Given the description of an element on the screen output the (x, y) to click on. 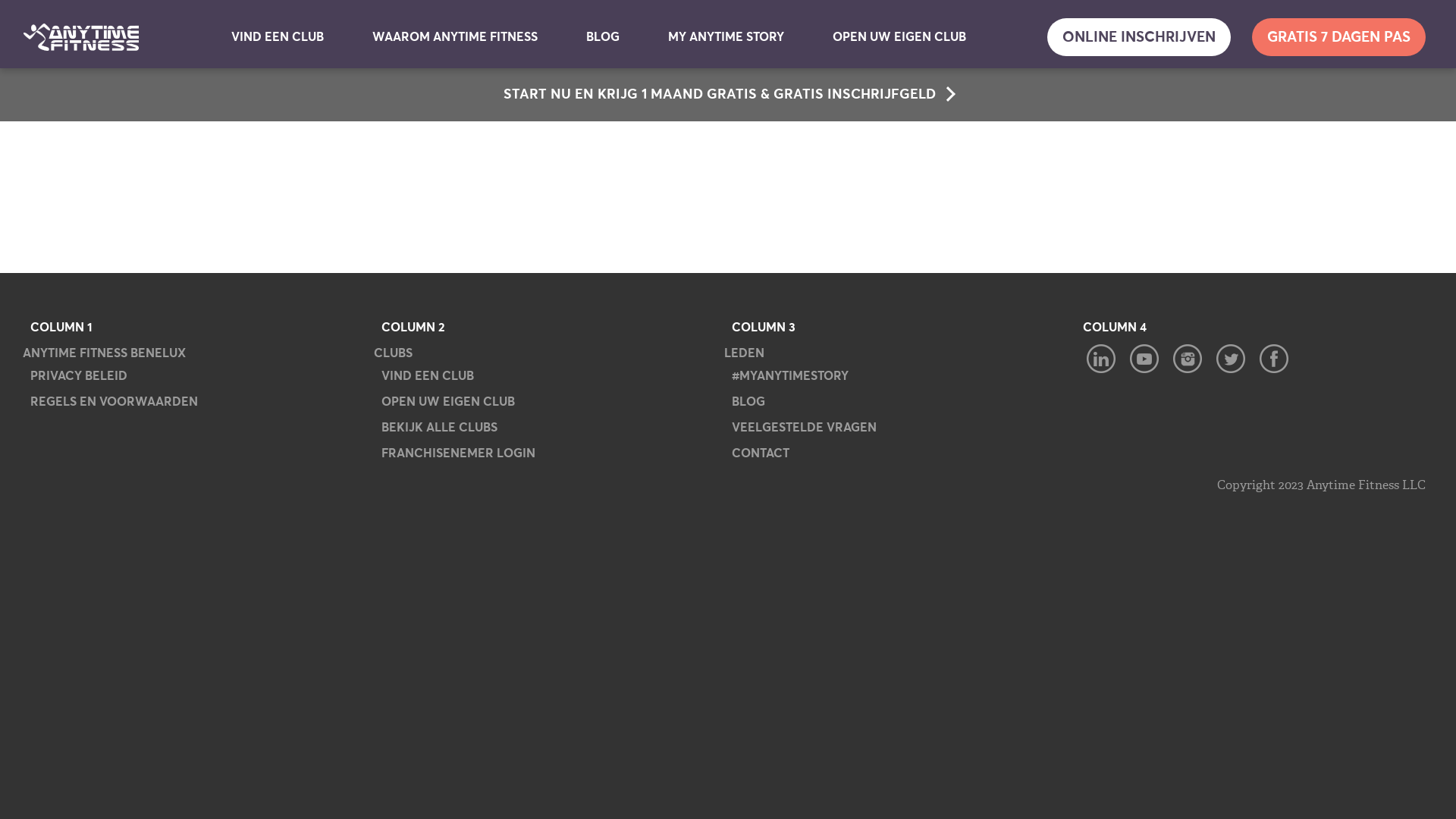
BEKIJK ALLE CLUBS Element type: text (438, 426)
BLOG Element type: text (602, 36)
FRANCHISENEMER LOGIN Element type: text (457, 452)
PRIVACY BELEID Element type: text (78, 375)
BLOG Element type: text (748, 401)
VIND EEN CLUB Element type: text (277, 36)
#MYANYTIMESTORY Element type: text (790, 375)
WAAROM ANYTIME FITNESS Element type: text (454, 36)
GRATIS 7 DAGEN PAS Element type: text (1338, 37)
CONTACT Element type: text (760, 452)
OPEN UW EIGEN CLUB Element type: text (898, 36)
REGELS EN VOORWAARDEN Element type: text (113, 401)
VIND EEN CLUB Element type: text (426, 375)
ONLINE INSCHRIJVEN Element type: text (1138, 37)
Anytime Fitness Element type: hover (80, 36)
MY ANYTIME STORY Element type: text (725, 36)
VEELGESTELDE VRAGEN Element type: text (804, 426)
OPEN UW EIGEN CLUB Element type: text (447, 401)
